Given the description of an element on the screen output the (x, y) to click on. 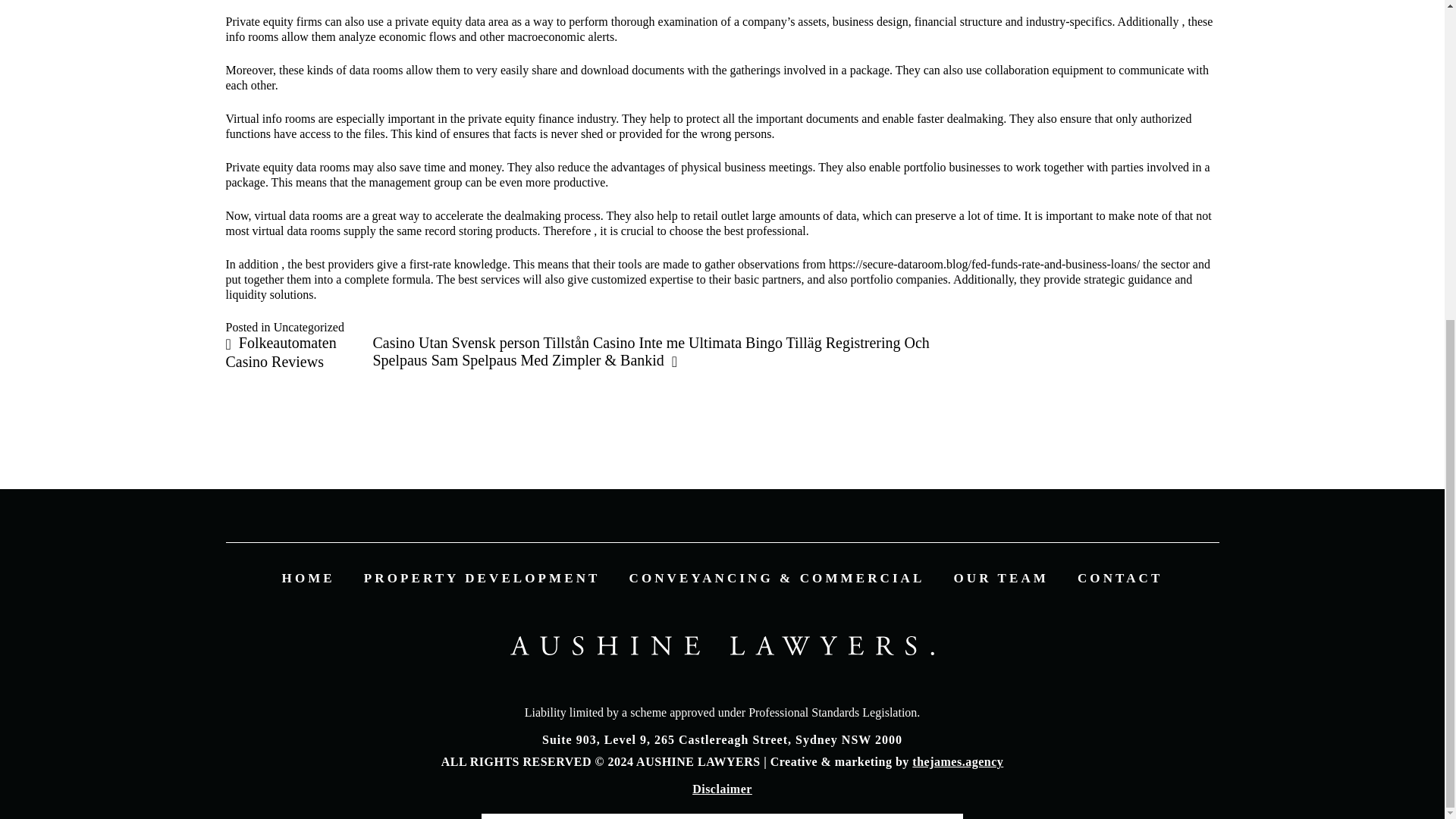
Uncategorized (308, 327)
Disclaimer (722, 788)
PROPERTY DEVELOPMENT (481, 577)
Disclaimer (722, 788)
Suite 903, Level 9, 265 Castlereagh Street, Sydney NSW 2000 (721, 739)
Folkeautomaten Casino Reviews (280, 352)
thejames.agency (957, 761)
CONTACT (1119, 577)
HOME (308, 577)
OUR TEAM (1000, 577)
